Given the description of an element on the screen output the (x, y) to click on. 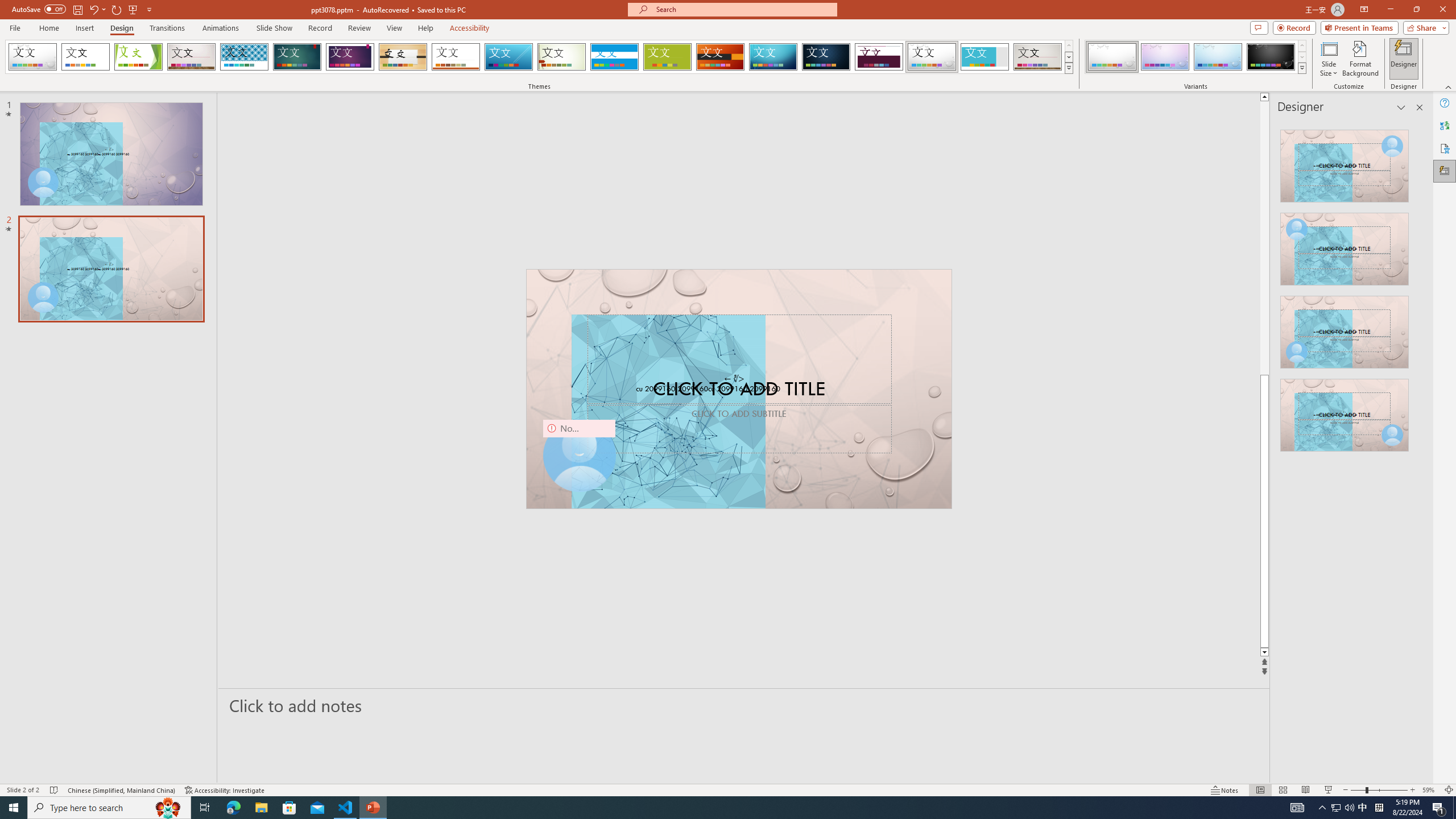
Droplet Variant 2 (1164, 56)
AutomationID: SlideThemesGallery (539, 56)
Slide Size (1328, 58)
